Given the description of an element on the screen output the (x, y) to click on. 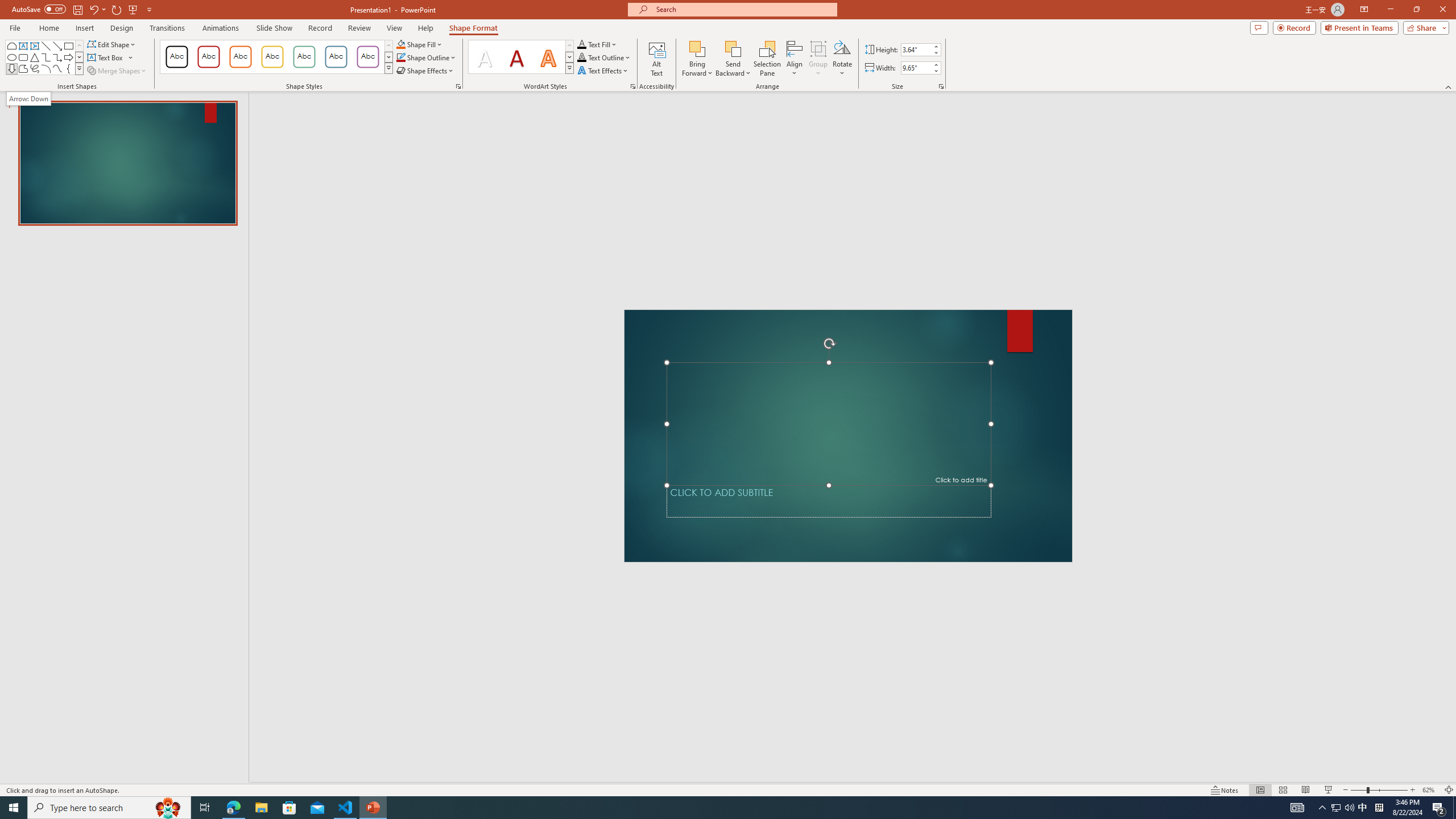
Text Effects (603, 69)
Isosceles Triangle (34, 57)
Format Object... (458, 85)
Colored Outline - Blue-Gray, Accent 5 (336, 56)
Connector: Elbow (46, 57)
Curve (57, 68)
Rectangle: Top Corners Snipped (11, 45)
Colored Outline - Orange, Accent 2 (240, 56)
